Given the description of an element on the screen output the (x, y) to click on. 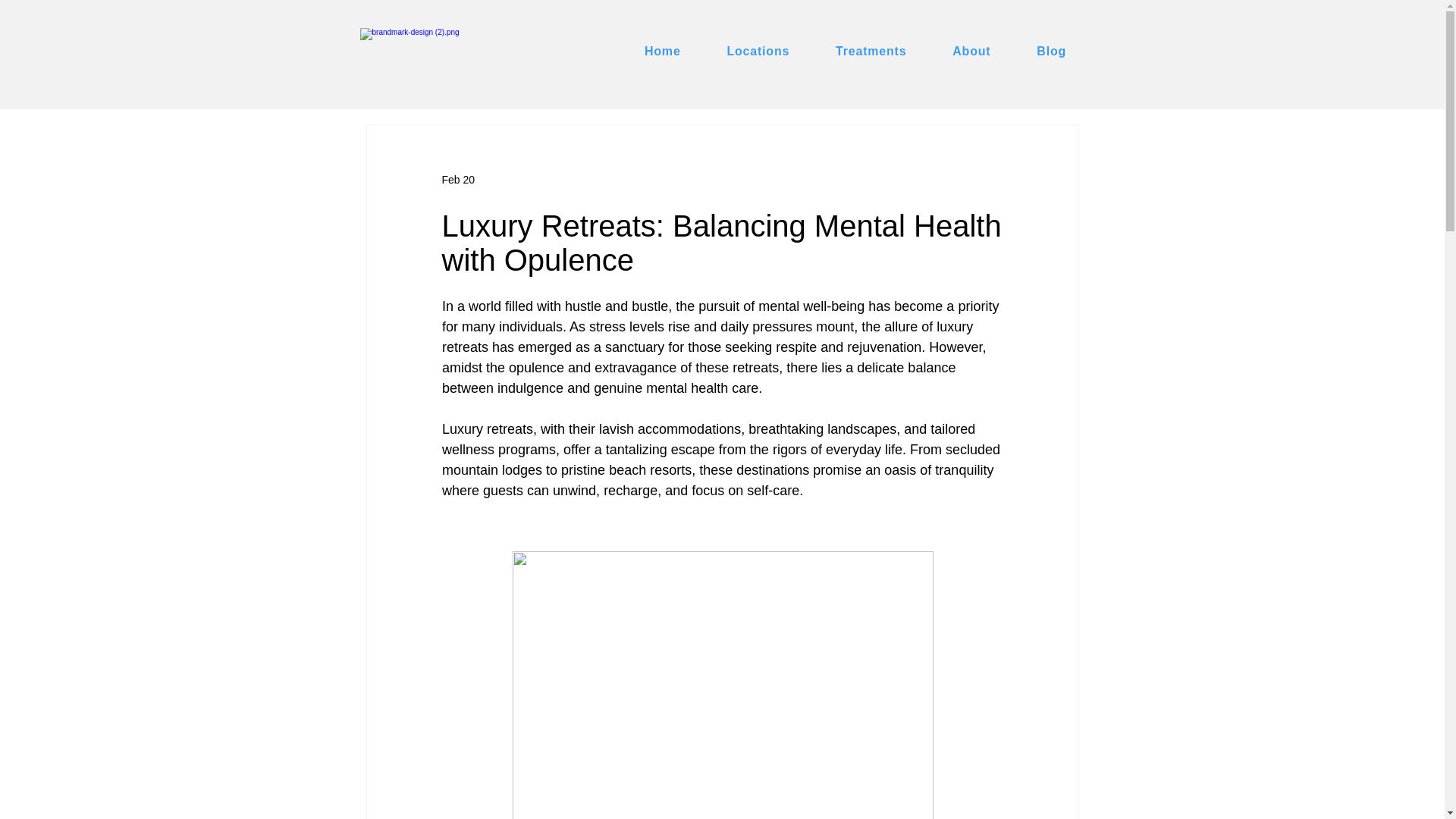
Feb 20 (457, 178)
Treatments (870, 51)
Locations (757, 51)
Blog (1051, 51)
About (971, 51)
Home (662, 51)
